Given the description of an element on the screen output the (x, y) to click on. 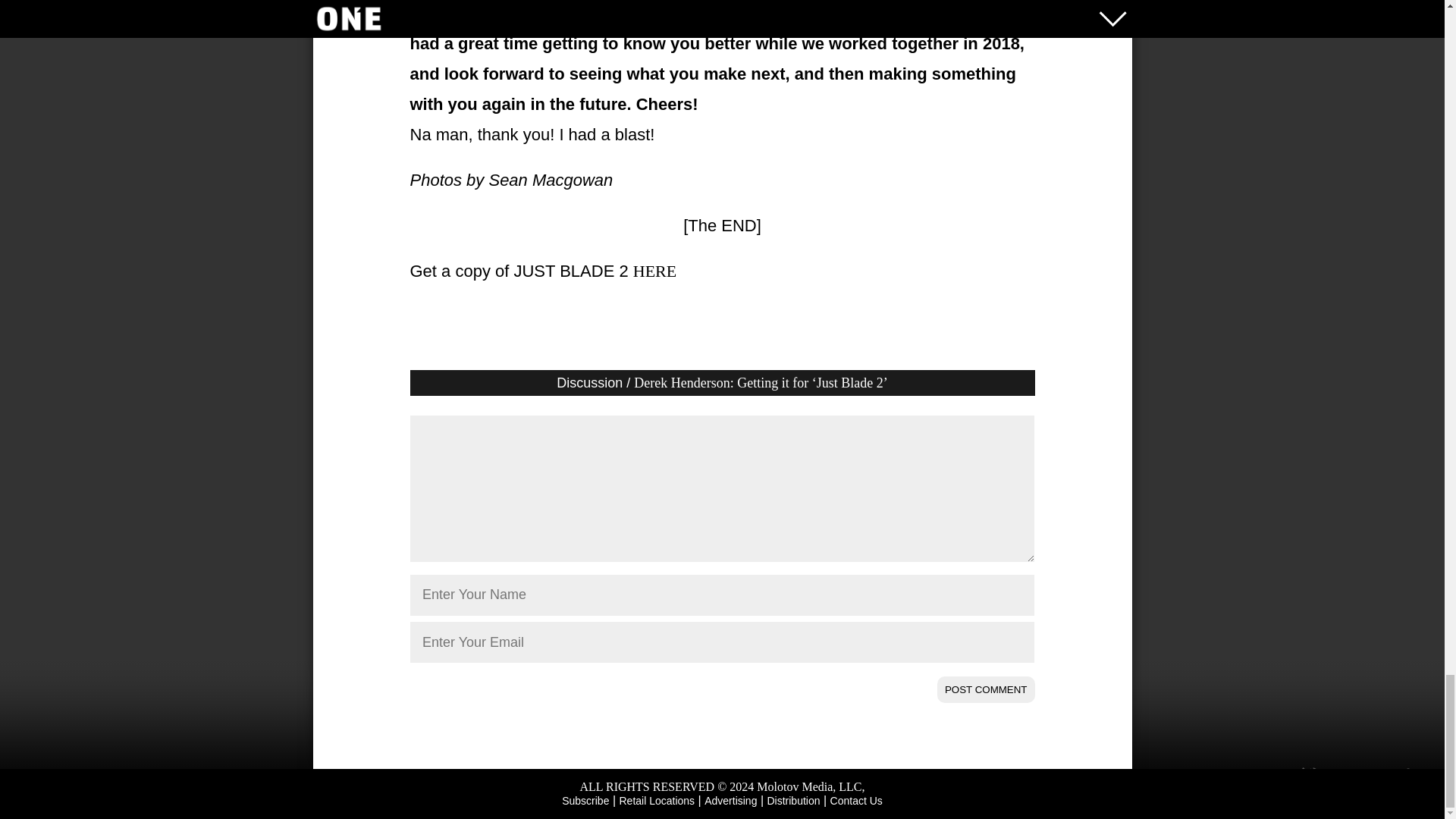
POST COMMENT (986, 689)
Distribution (793, 800)
Contact Us (855, 800)
HERE (655, 270)
Subscribe (585, 800)
Retail Locations (656, 800)
POST COMMENT (986, 689)
Advertising (730, 800)
